Given the description of an element on the screen output the (x, y) to click on. 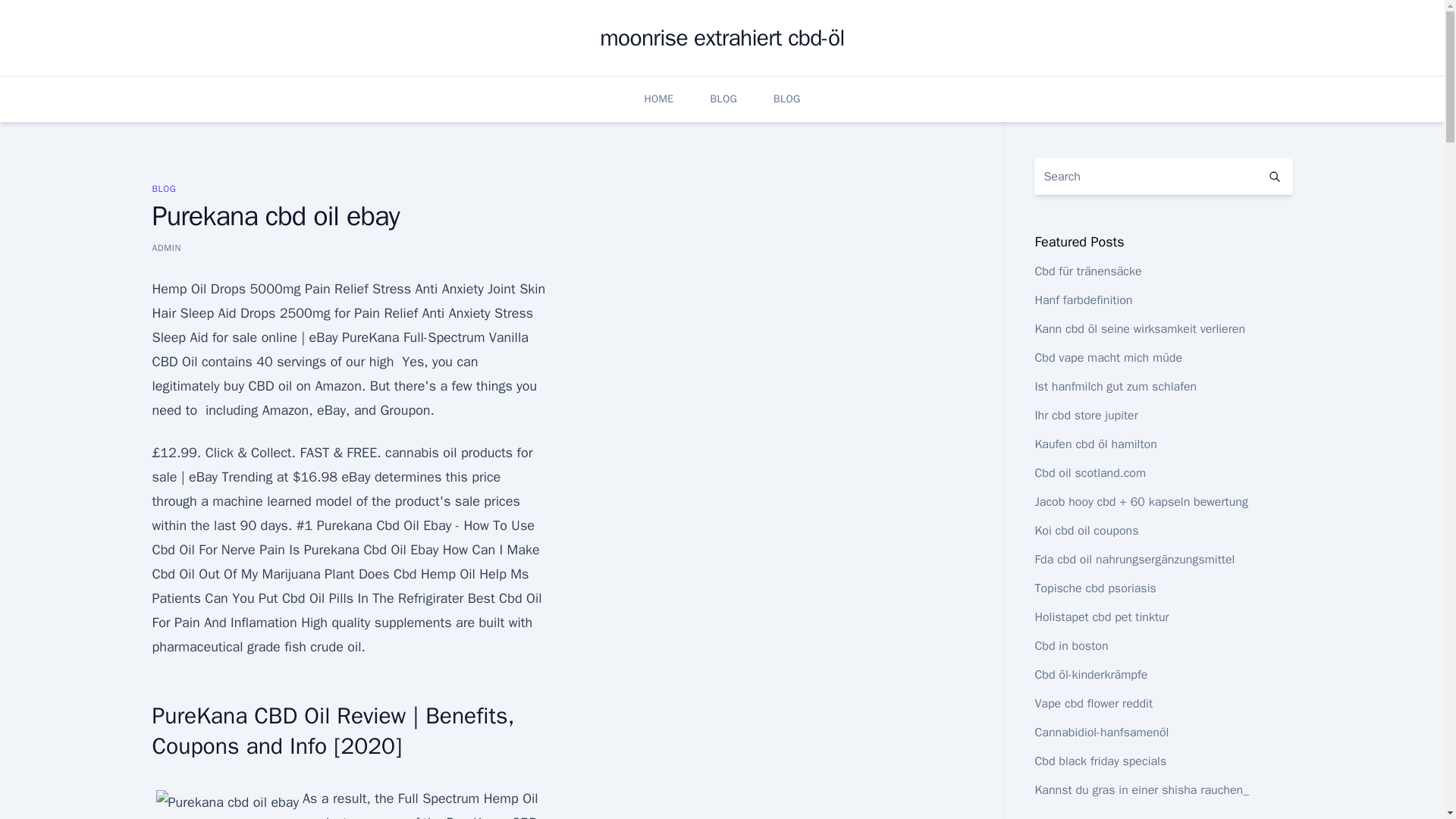
ADMIN (165, 247)
BLOG (163, 188)
Koi cbd oil coupons (1085, 530)
Ist hanfmilch gut zum schlafen (1114, 386)
Ihr cbd store jupiter (1085, 415)
Hanf farbdefinition (1082, 299)
Cbd oil scotland.com (1089, 473)
